Given the description of an element on the screen output the (x, y) to click on. 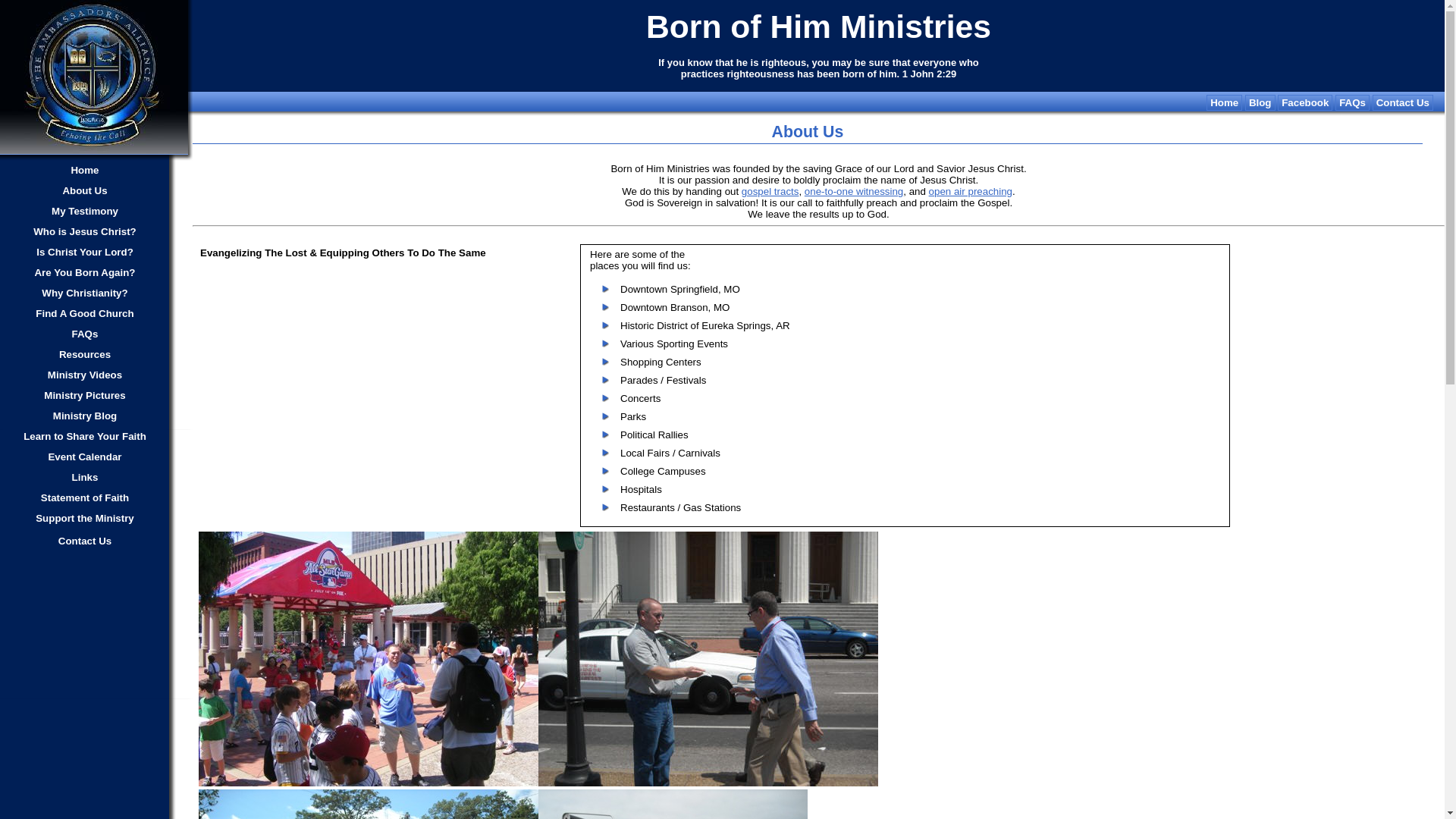
Ministry Pictures (84, 395)
Are You Born Again? (84, 272)
FAQs (84, 333)
Find A Good Church (84, 313)
Facebook (1305, 102)
Ministry Videos (84, 374)
Home (84, 170)
My Testimony (84, 211)
Home (1224, 102)
Links (84, 477)
